Given the description of an element on the screen output the (x, y) to click on. 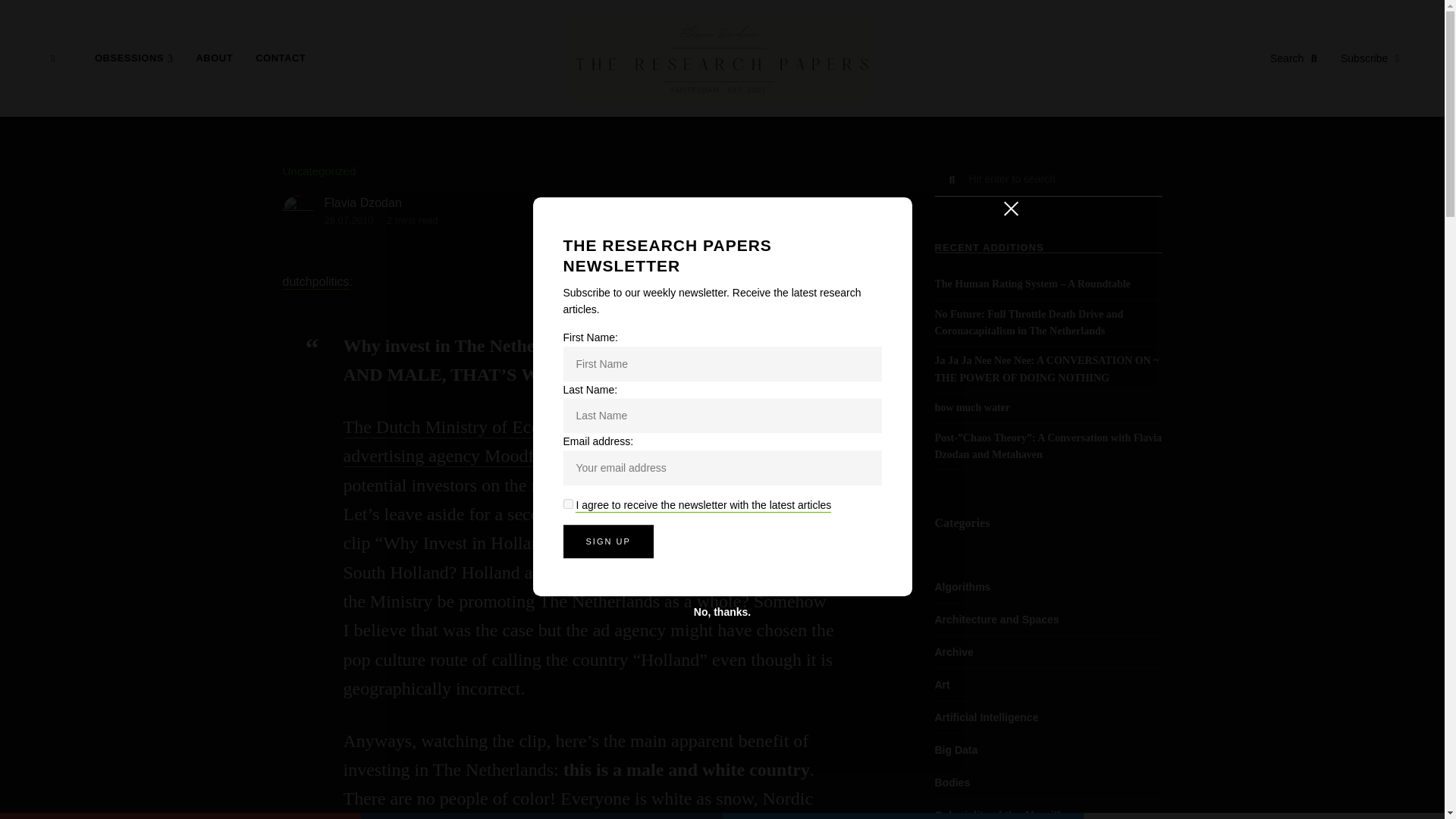
Flavia Dzodan (362, 202)
Twitter (902, 816)
dutchpolitics (315, 282)
Menu (52, 57)
CONTACT (280, 58)
Uncategorized (318, 171)
Like (180, 816)
Sign up (607, 540)
OBSESSIONS (133, 58)
Facebook (541, 816)
advertising agency Moodfactory (462, 455)
The Dutch Ministry of Economic Affairs (491, 427)
1 (567, 503)
